Given the description of an element on the screen output the (x, y) to click on. 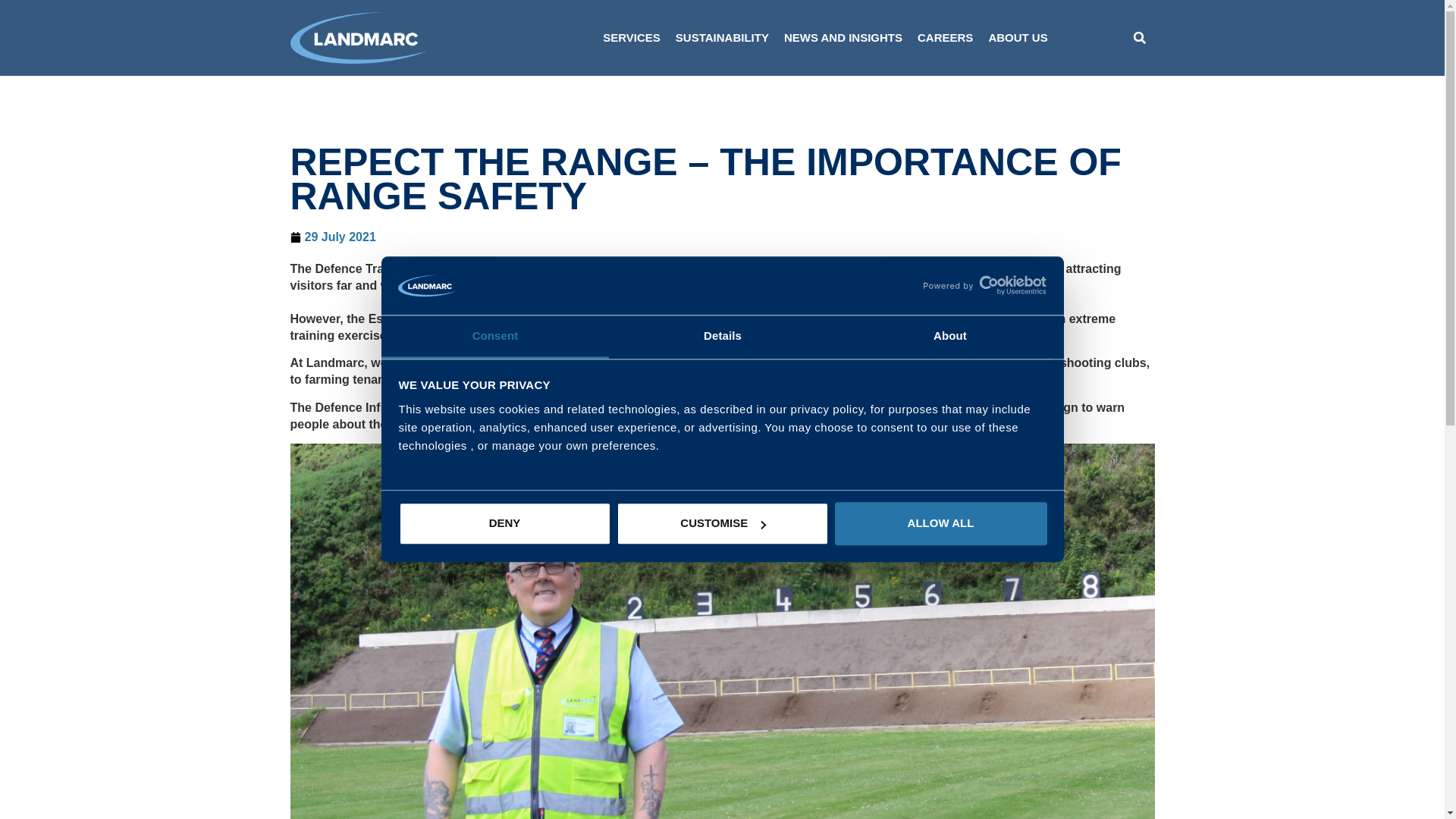
About (948, 336)
CUSTOMISE (721, 524)
Consent (494, 336)
ALLOW ALL (940, 524)
DENY (503, 524)
Details (721, 336)
